Given the description of an element on the screen output the (x, y) to click on. 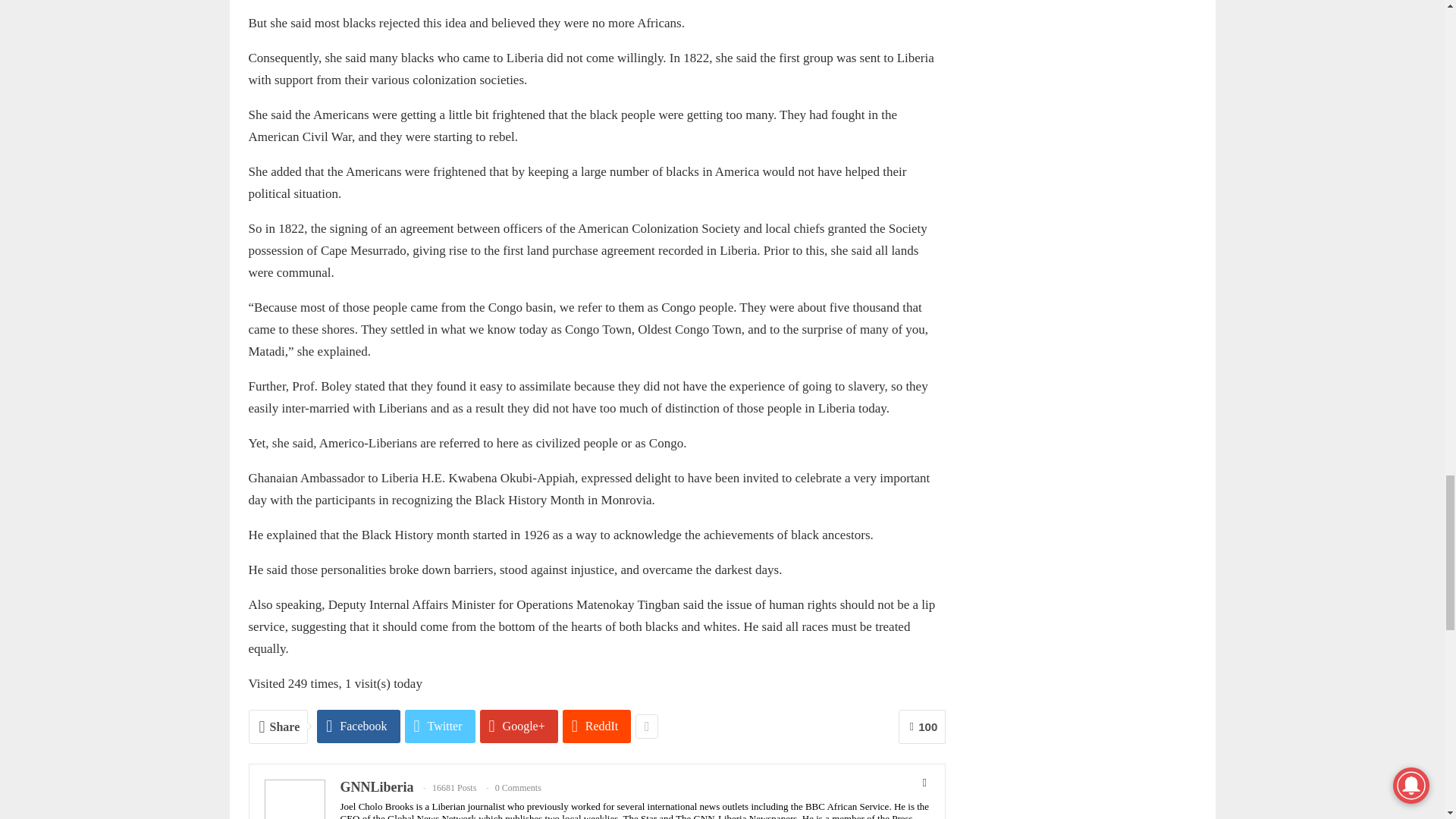
GNNLiberia (376, 786)
Twitter (440, 726)
ReddIt (596, 726)
Facebook (357, 726)
